Given the description of an element on the screen output the (x, y) to click on. 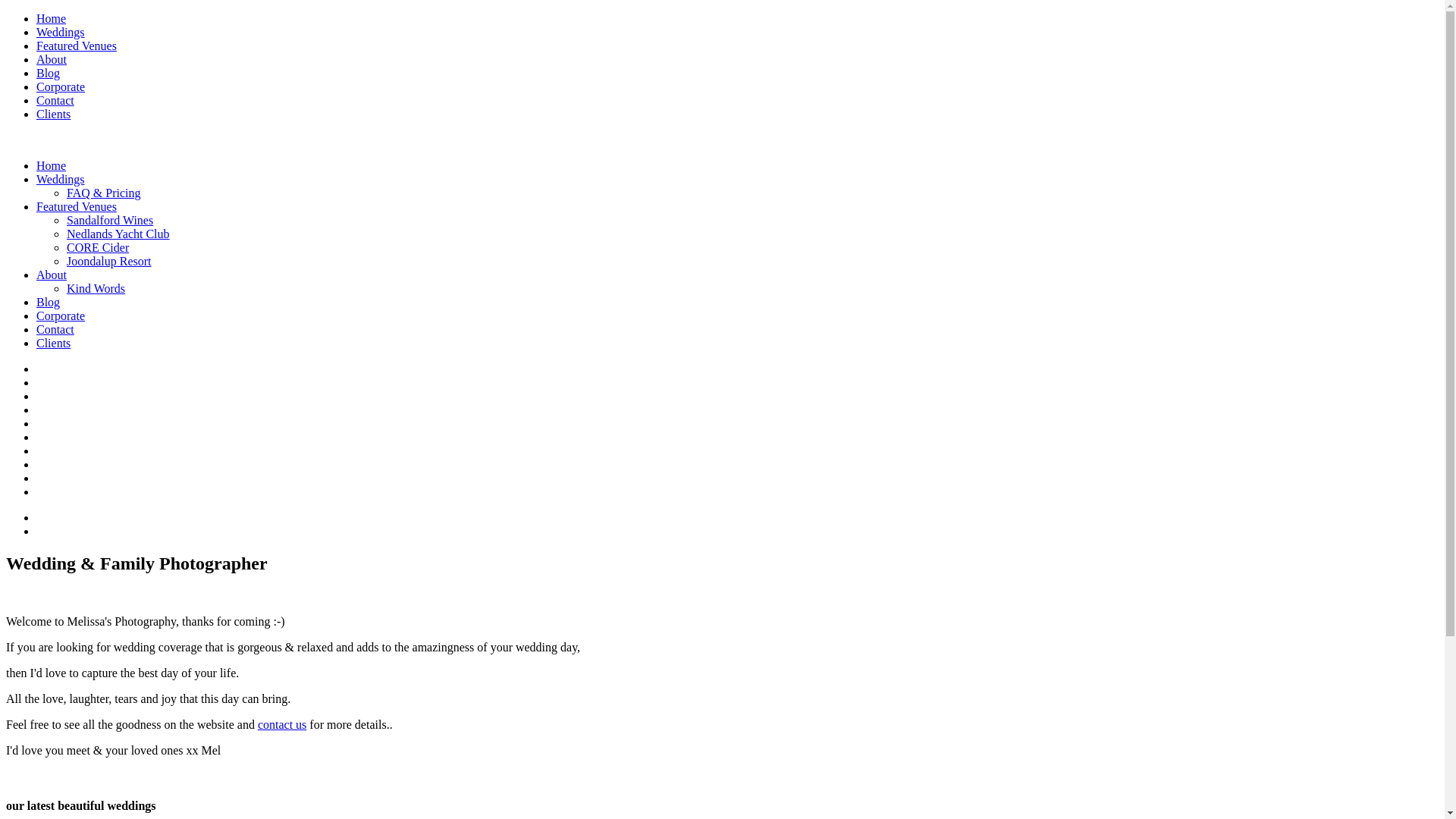
Sandalford Wines Element type: text (109, 219)
Joondalup Resort Element type: text (108, 260)
FAQ & Pricing Element type: text (103, 192)
Clients Element type: text (53, 113)
Corporate Element type: text (60, 315)
Corporate Element type: text (60, 86)
Blog Element type: text (47, 301)
Featured Venues Element type: text (76, 206)
Kind Words Element type: text (95, 288)
Featured Venues Element type: text (76, 45)
About Element type: text (51, 274)
Home Element type: text (50, 165)
Home Element type: text (50, 18)
Contact Element type: text (55, 329)
Nedlands Yacht Club Element type: text (117, 233)
Weddings Element type: text (60, 178)
Weddings Element type: text (60, 31)
Contact Element type: text (55, 100)
About Element type: text (51, 59)
CORE Cider Element type: text (97, 247)
contact us Element type: text (281, 724)
Clients Element type: text (53, 342)
Blog Element type: text (47, 72)
